Given the description of an element on the screen output the (x, y) to click on. 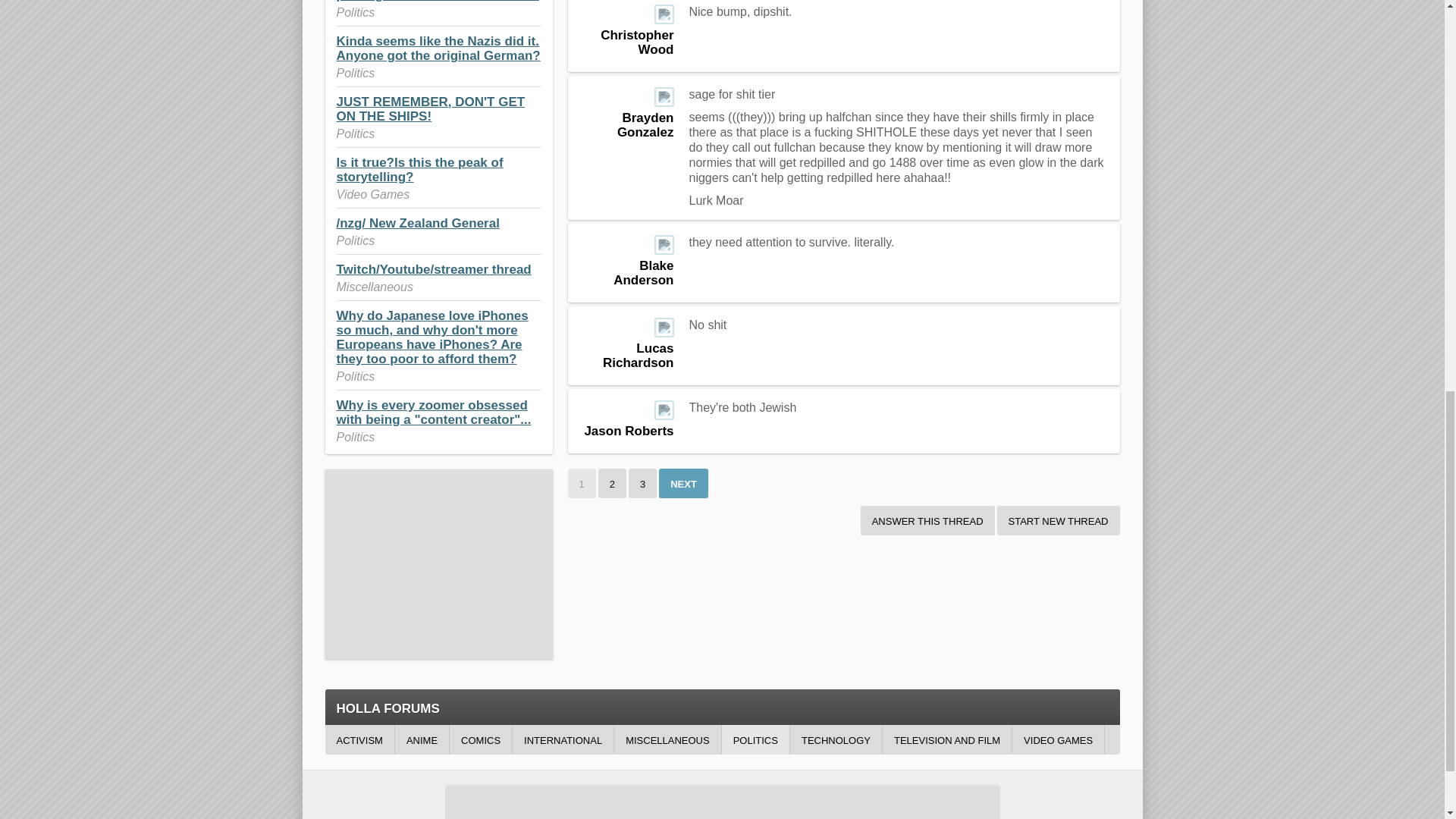
START NEW THREAD (1058, 520)
JUST REMEMBER, DON'T GET ON THE SHIPS! (430, 109)
Is it true?Is this the peak of storytelling? (419, 169)
JUST REMEMBER, DON'T GET ON THE SHIPS! (430, 109)
3 (642, 482)
ANSWER THIS THREAD (927, 520)
2 (612, 482)
Is it true?Is this the peak of storytelling? (419, 169)
